Given the description of an element on the screen output the (x, y) to click on. 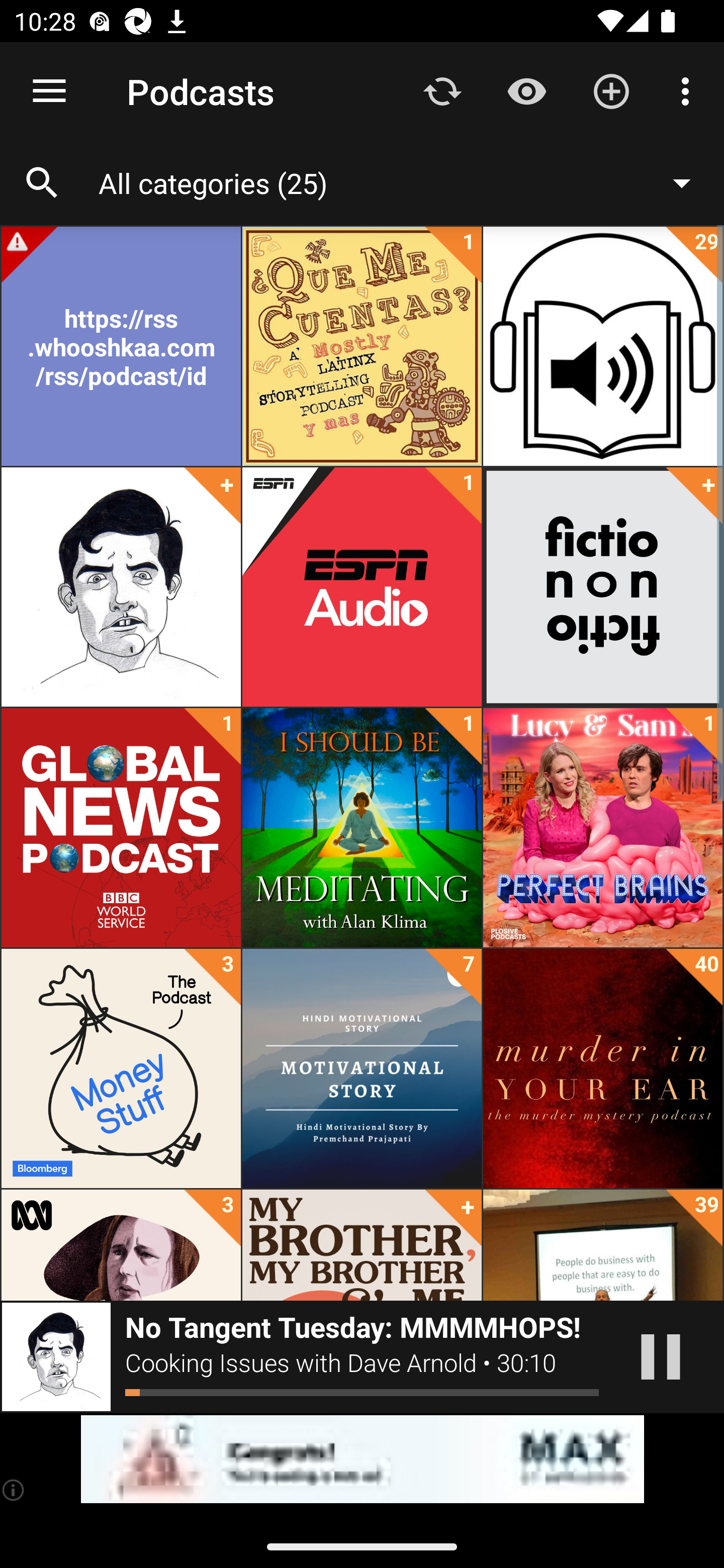
Open navigation sidebar (49, 91)
Update (442, 90)
Show / Hide played content (526, 90)
Add new Podcast (611, 90)
More options (688, 90)
Search (42, 183)
All categories (25) (404, 182)
https://rss.whooshkaa.com/rss/podcast/id/5884 (121, 346)
¿Qué Me Cuentas?: Latinx Storytelling 1 (361, 346)
Audiobooks 29 (602, 346)
Cooking Issues with Dave Arnold + (121, 587)
ESPN Audio 1 (361, 587)
fiction/non/fiction + (602, 587)
Global News Podcast 1 (121, 827)
Lucy & Sam's Perfect Brains 1 (602, 827)
Money Stuff: The Podcast 3 (121, 1068)
Murder In Your Ear-The Murder Mystery Podcast 40 (602, 1068)
Play / Pause (660, 1356)
app-monetization (362, 1459)
(i) (14, 1489)
